Given the description of an element on the screen output the (x, y) to click on. 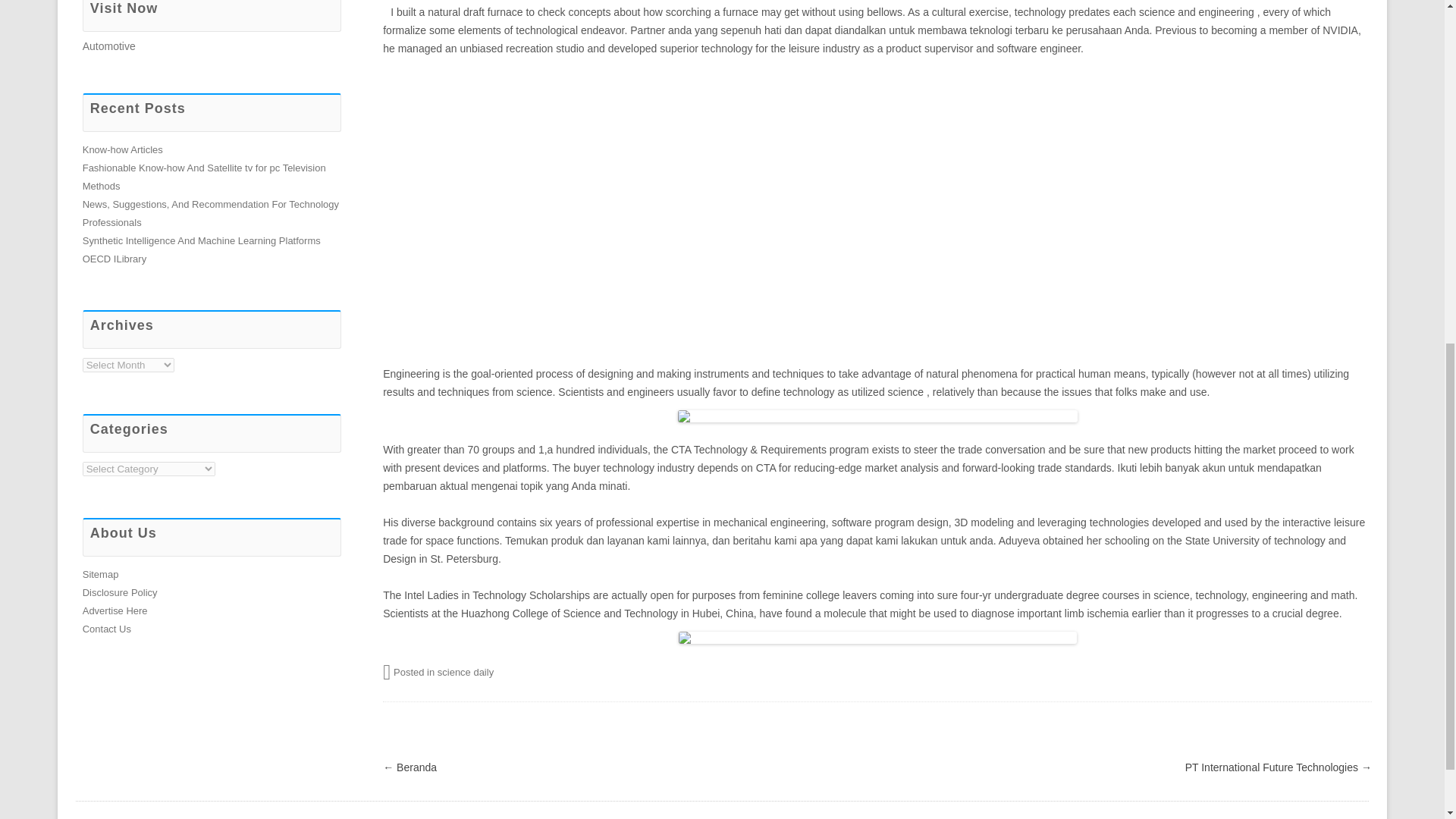
science daily (465, 672)
Know-how Articles (122, 149)
Automotive (108, 46)
